Given the description of an element on the screen output the (x, y) to click on. 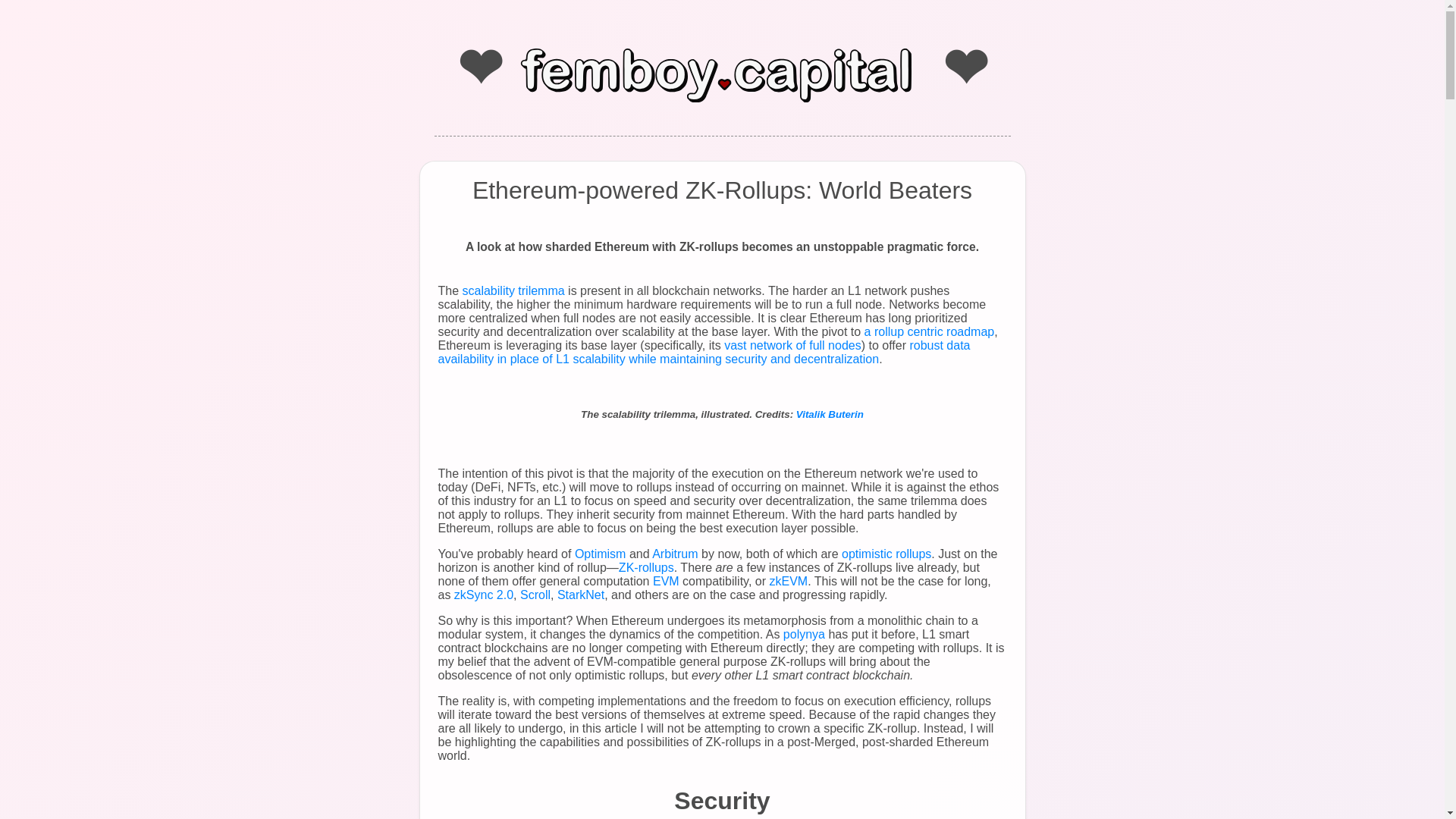
Arbitrum (674, 553)
scalability trilemma (513, 290)
Vitalik Buterin (829, 414)
zkSync 2.0 (483, 594)
zkEVM (788, 581)
Scroll (534, 594)
optimistic rollups (886, 553)
polynya (804, 634)
Optimism (600, 553)
EVM (665, 581)
a rollup centric roadmap (929, 331)
vast network of full nodes (792, 345)
StarkNet (580, 594)
ZK-rollups (646, 567)
